Given the description of an element on the screen output the (x, y) to click on. 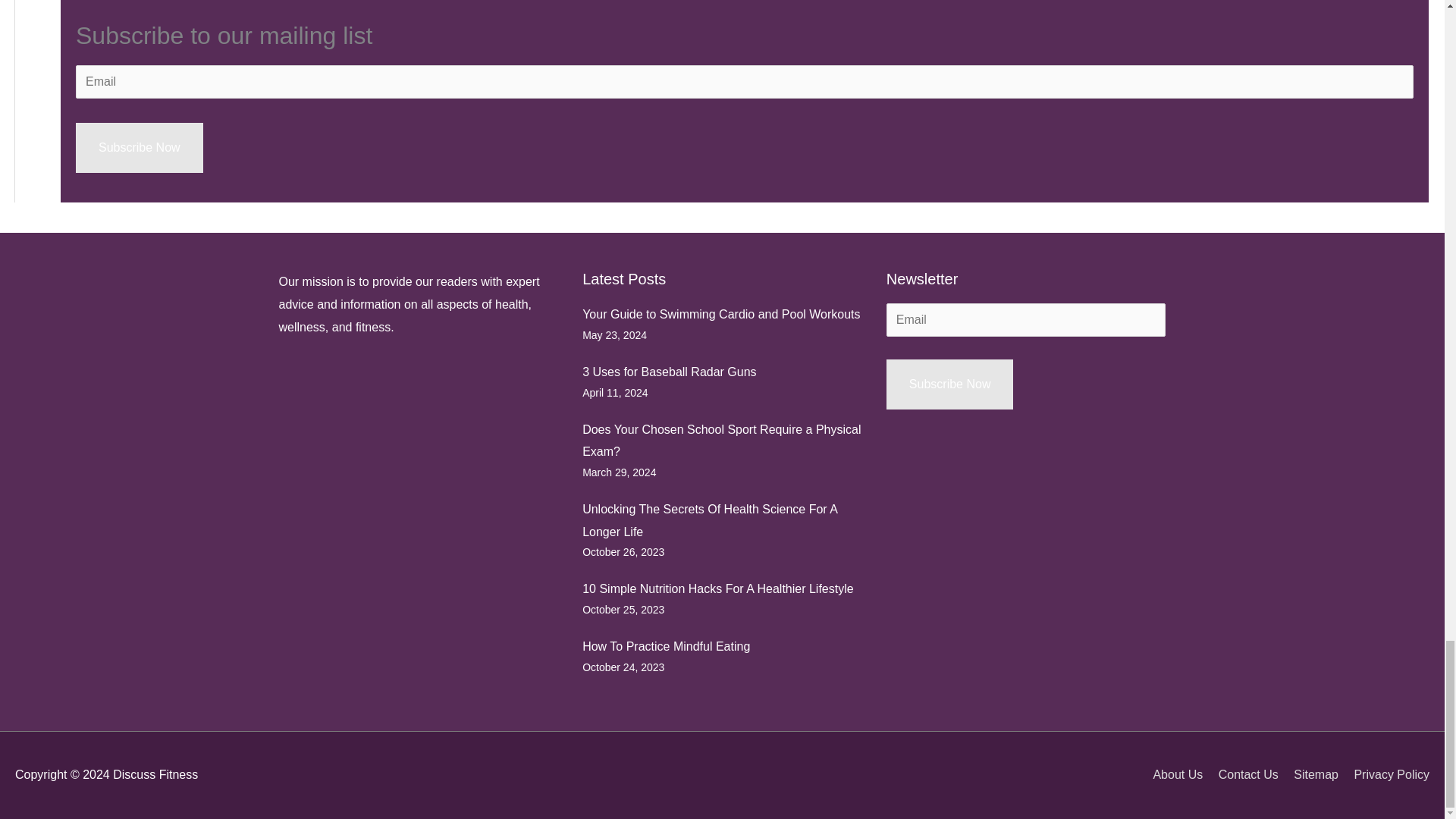
Privacy Policy (1384, 774)
Sitemap (1309, 774)
Your Guide to Swimming Cardio and Pool Workouts (721, 314)
Subscribe Now (139, 147)
About Us (1171, 774)
Contact Us (1242, 774)
How To Practice Mindful Eating (665, 645)
Does Your Chosen School Sport Require a Physical Exam? (721, 440)
3 Uses for Baseball Radar Guns (668, 371)
Unlocking The Secrets Of Health Science For A Longer Life (709, 520)
